Given the description of an element on the screen output the (x, y) to click on. 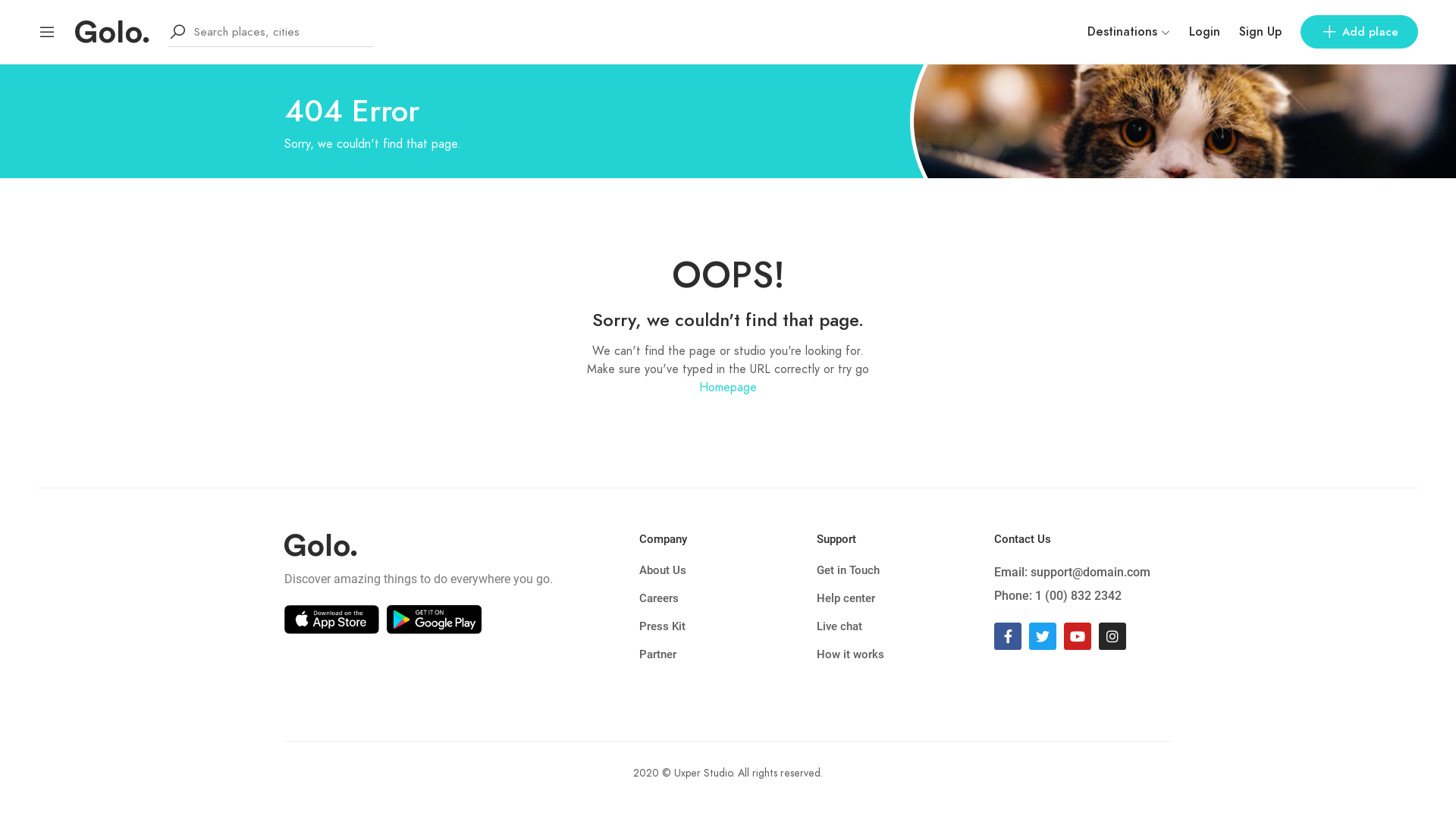
Login Element type: text (1204, 31)
Press Kit Element type: text (727, 626)
Get in Touch Element type: text (905, 570)
Help center Element type: text (905, 598)
Homepage Element type: text (727, 387)
About Us Element type: text (727, 570)
Careers Element type: text (727, 598)
Live chat Element type: text (905, 626)
Sign Up Element type: text (1260, 31)
Partner Element type: text (727, 654)
How it works Element type: text (905, 654)
Tourism in Azerbaijan Element type: hover (112, 30)
Add place Element type: text (1359, 31)
